Given the description of an element on the screen output the (x, y) to click on. 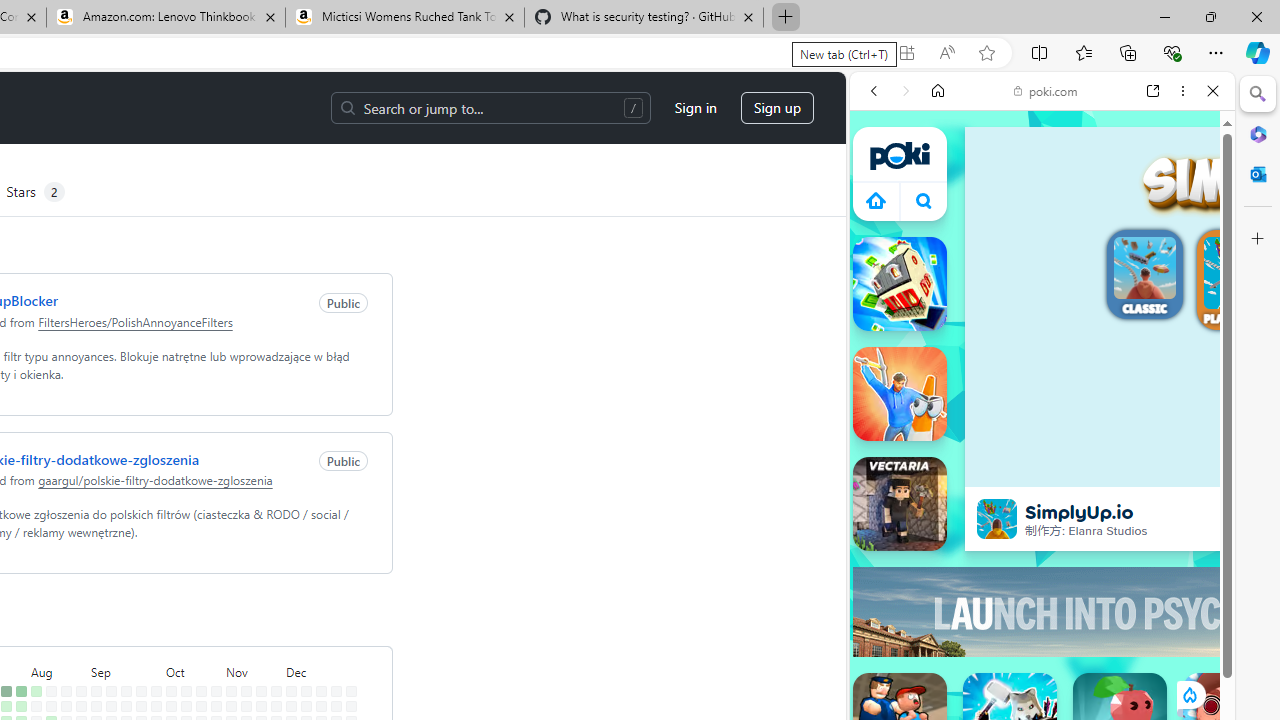
poki.com (1046, 90)
Class: hvLtMSipvVng82x9Seuh (997, 519)
PLAYGROUND (1240, 282)
No contributions on September 2nd. (96, 706)
No contributions on September 30th. (156, 706)
Show More Io Games (1164, 619)
No contributions on November 10th. (246, 691)
Global web icon (888, 288)
No contributions on September 16th. (126, 706)
IMAGES (939, 228)
Io Games (1042, 616)
Io Games (1042, 617)
WEB   (882, 228)
